Given the description of an element on the screen output the (x, y) to click on. 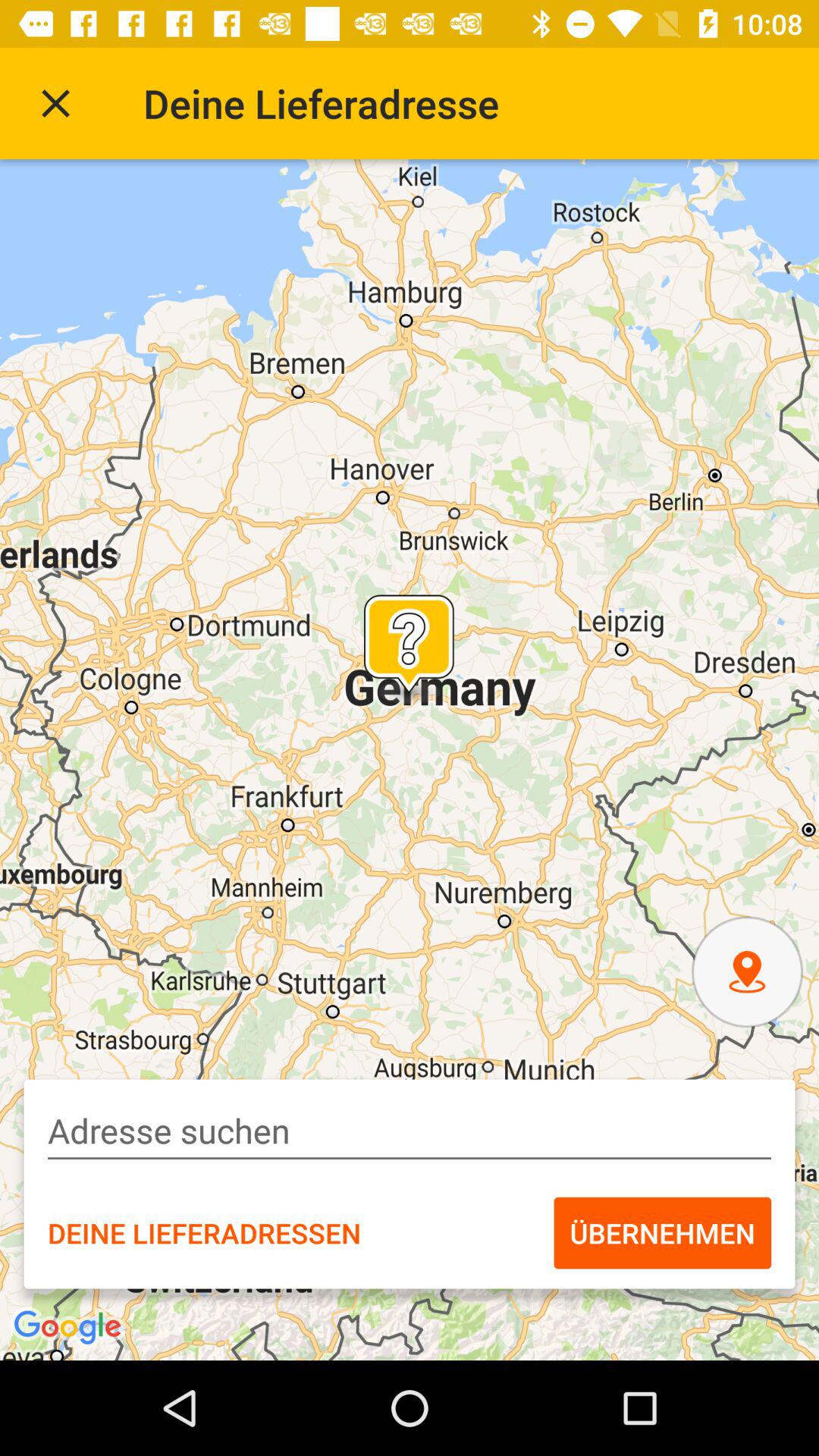
tap the deine lieferadressen (204, 1232)
